Given the description of an element on the screen output the (x, y) to click on. 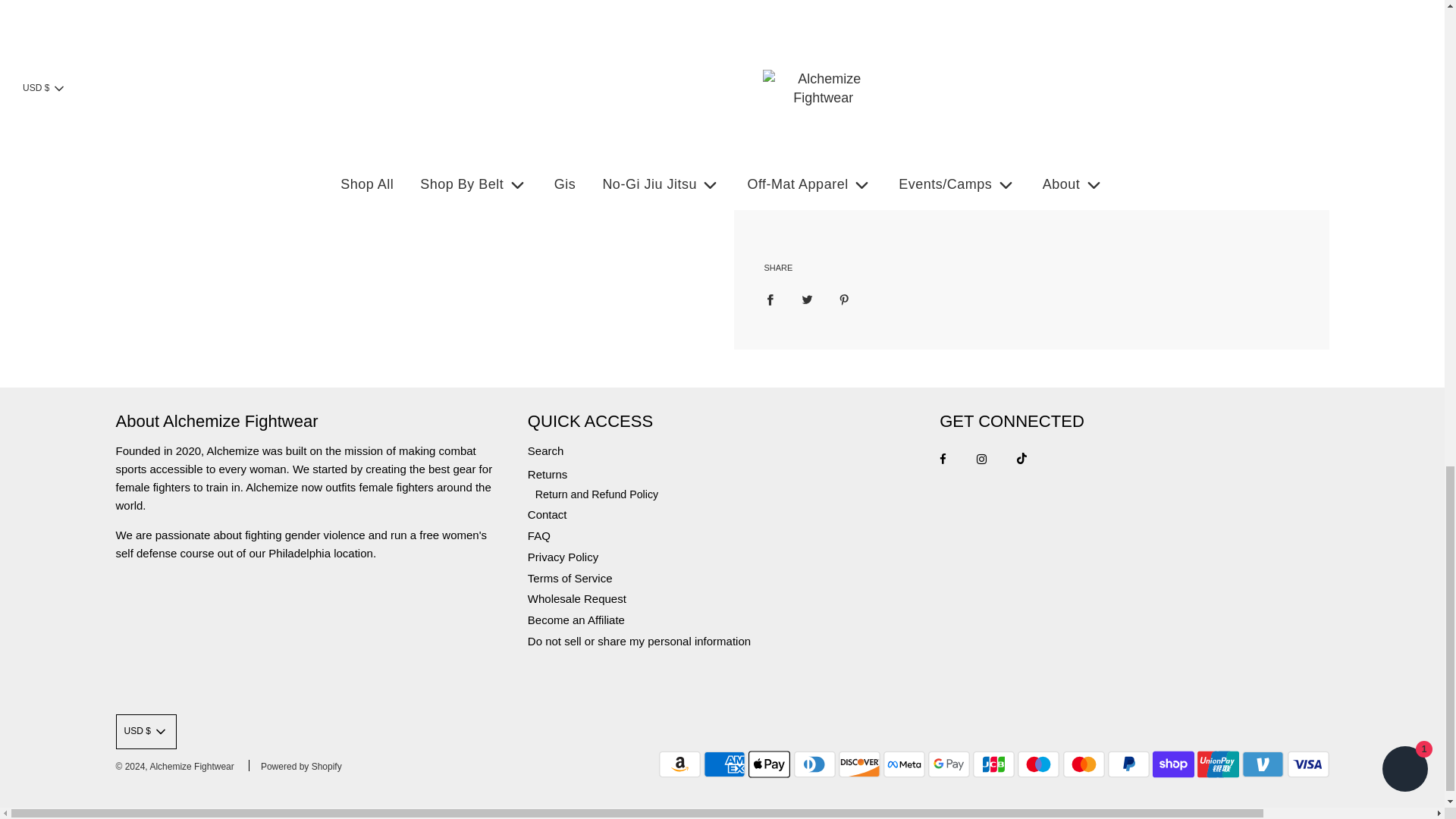
American Express (724, 764)
Amazon (679, 764)
Maestro (1038, 764)
Discover (859, 764)
Diners Club (814, 764)
Google Pay (948, 764)
Meta Pay (903, 764)
Apple Pay (769, 764)
JCB (993, 764)
